Given the description of an element on the screen output the (x, y) to click on. 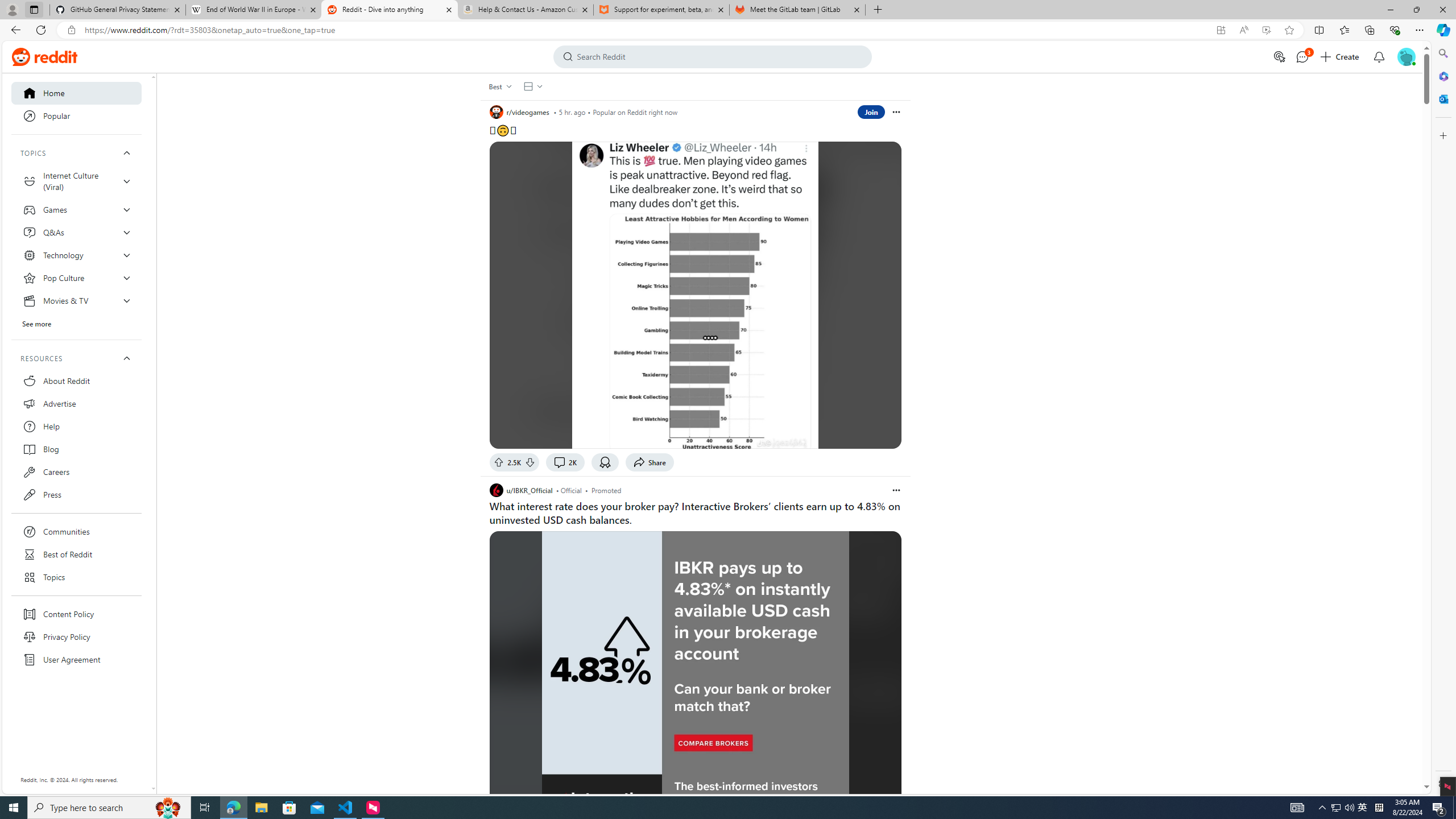
Give award (604, 461)
App available. Install Reddit (1220, 29)
Sort by: Best (498, 85)
User Agreement (76, 659)
Topics (76, 576)
User Avatar (1405, 56)
2K comments (565, 461)
